Given the description of an element on the screen output the (x, y) to click on. 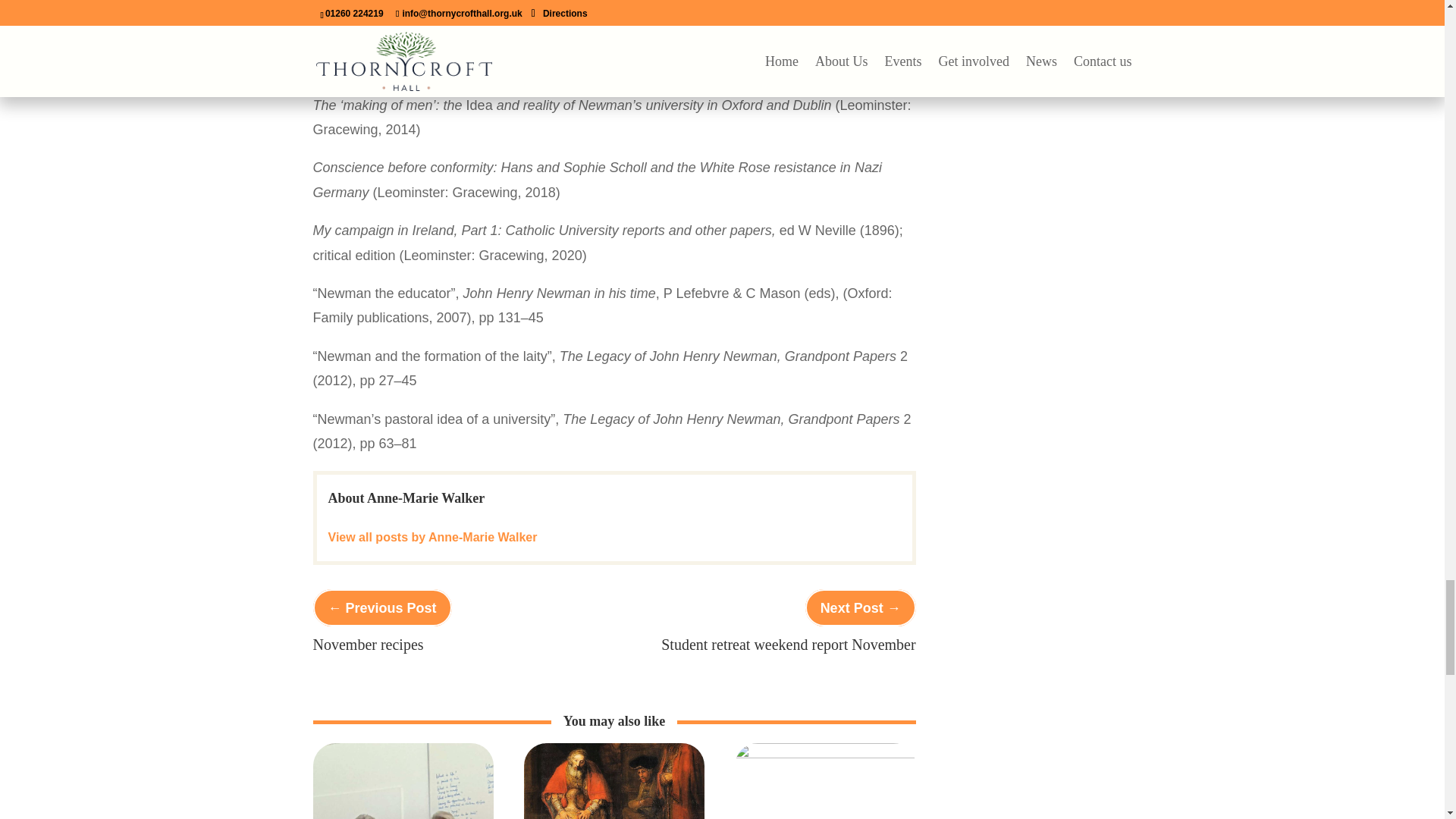
Student retreat weekend report November (788, 643)
View all posts by Anne-Marie Walker (432, 536)
November recipes (368, 643)
